Given the description of an element on the screen output the (x, y) to click on. 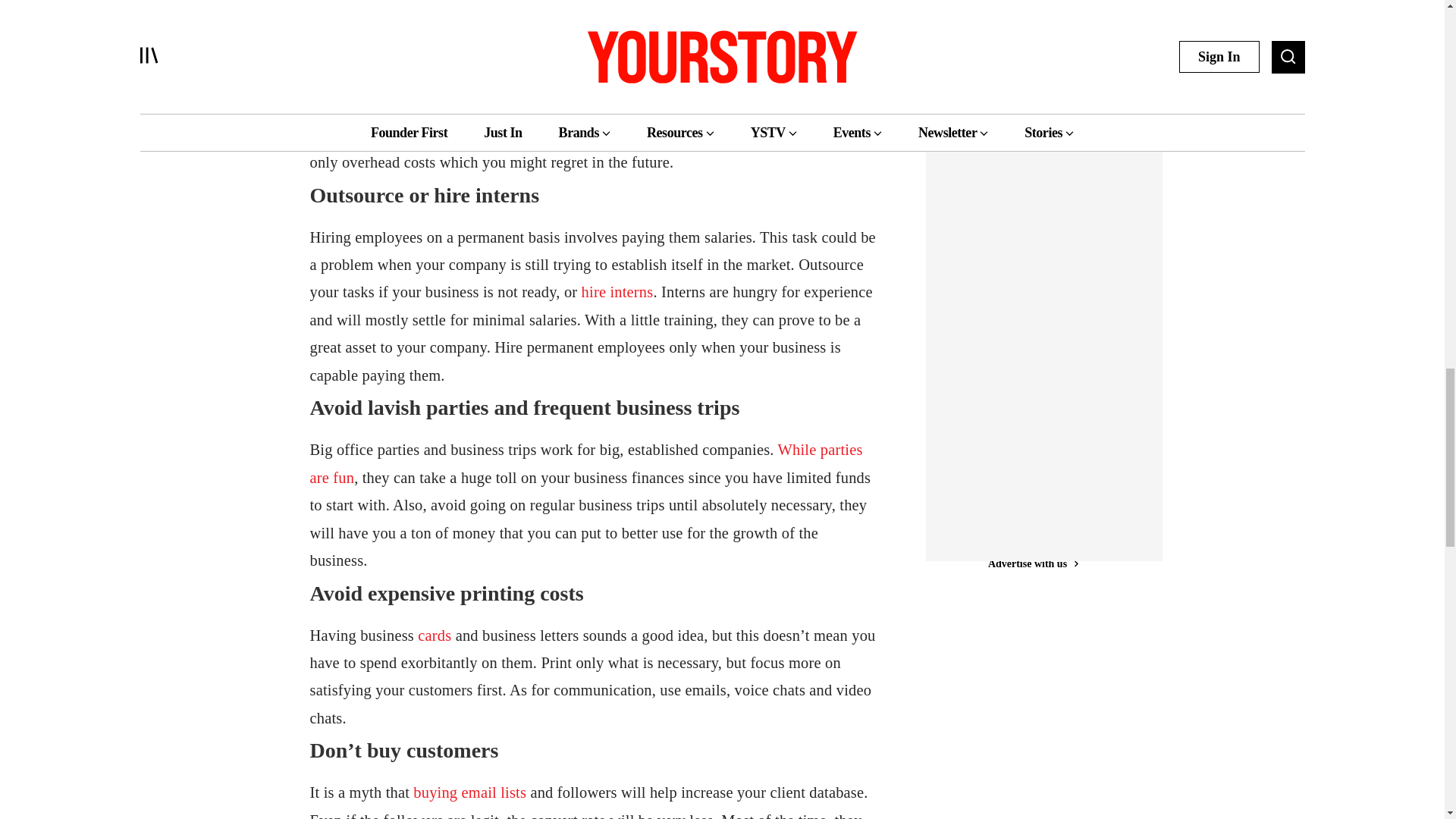
While parties are fun (584, 463)
hire interns (616, 291)
buying email lists (469, 791)
cards (434, 634)
